Given the description of an element on the screen output the (x, y) to click on. 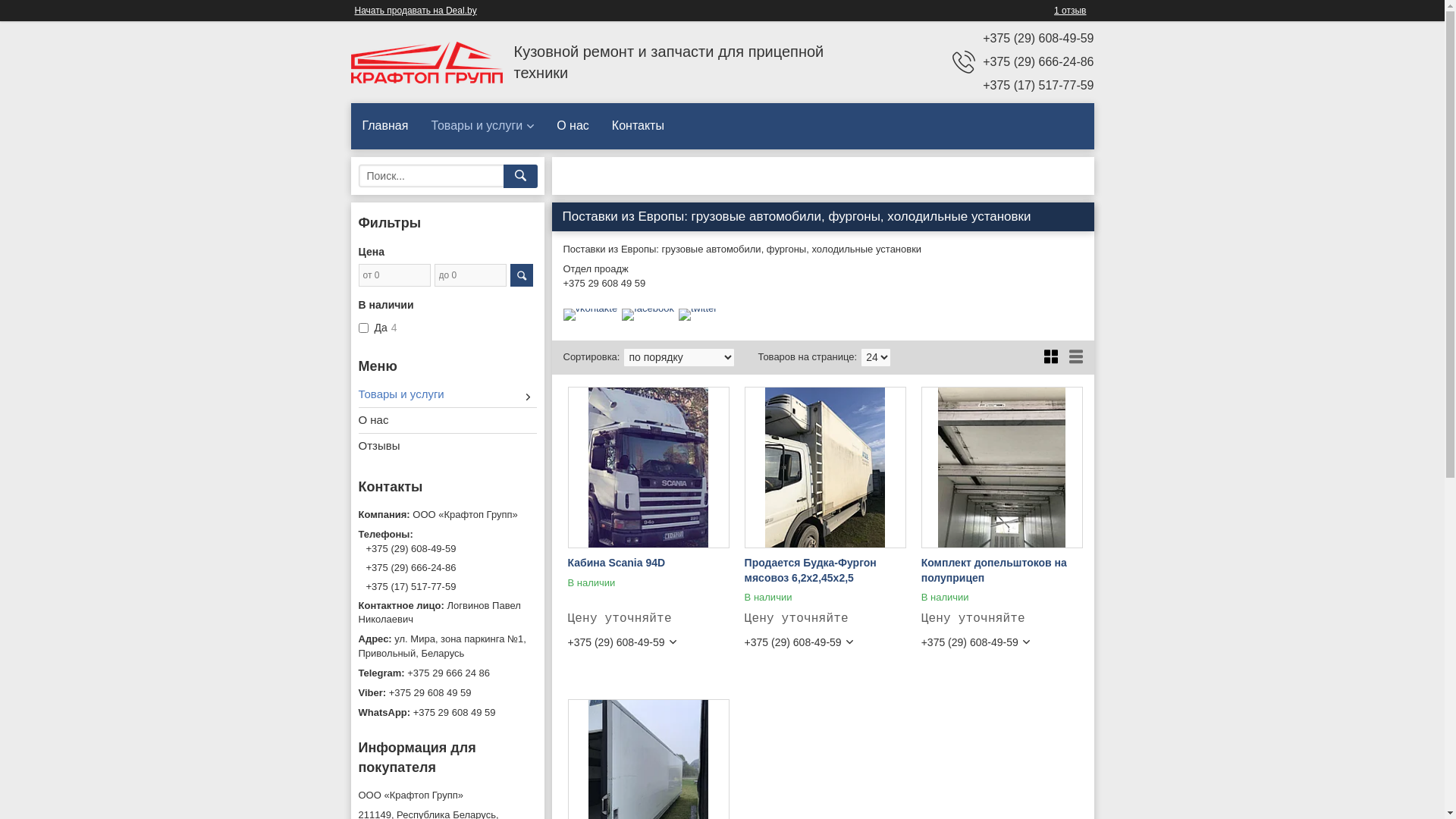
facebook Element type: hover (647, 307)
twitter Element type: hover (697, 307)
